Given the description of an element on the screen output the (x, y) to click on. 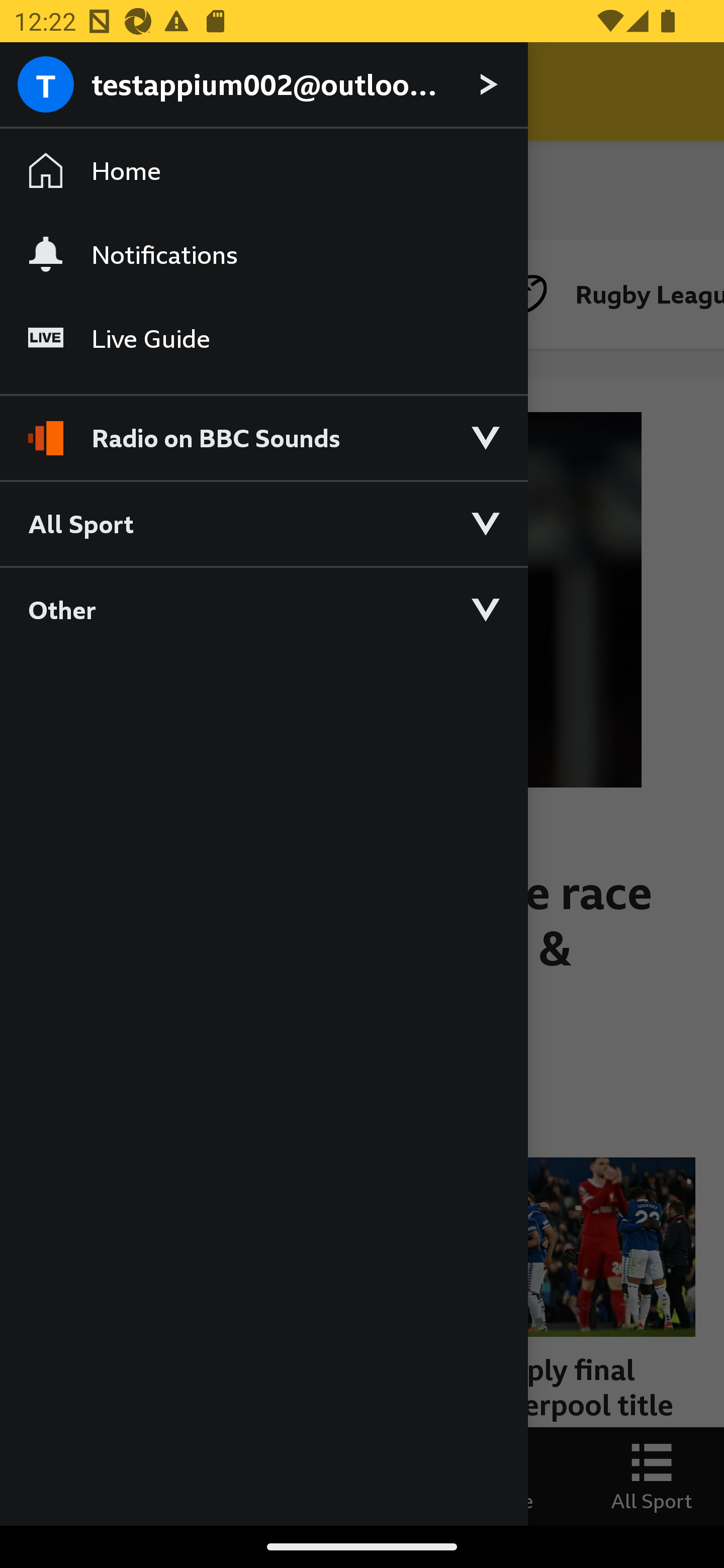
testappium002@outlook.com (263, 85)
Home (263, 170)
Notifications (263, 253)
Live Guide (263, 338)
Radio on BBC Sounds (263, 429)
All Sport (263, 522)
Other (263, 609)
